Given the description of an element on the screen output the (x, y) to click on. 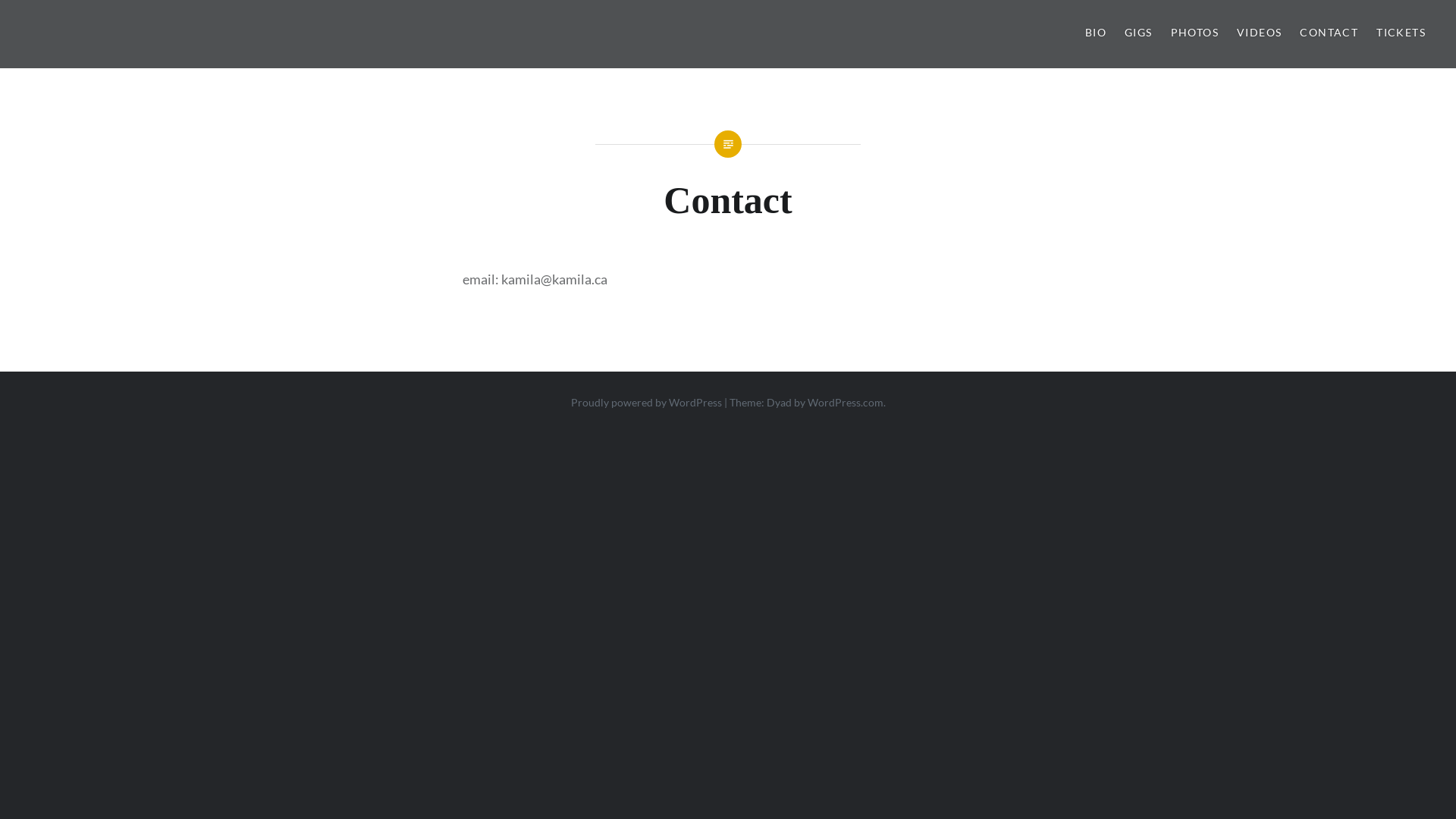
BIO Element type: text (1095, 32)
GIGS Element type: text (1138, 32)
Proudly powered by WordPress Element type: text (645, 401)
TICKETS Element type: text (1400, 32)
WordPress.com Element type: text (844, 401)
CONTACT Element type: text (1328, 32)
PHOTOS Element type: text (1194, 32)
VIDEOS Element type: text (1258, 32)
